Given the description of an element on the screen output the (x, y) to click on. 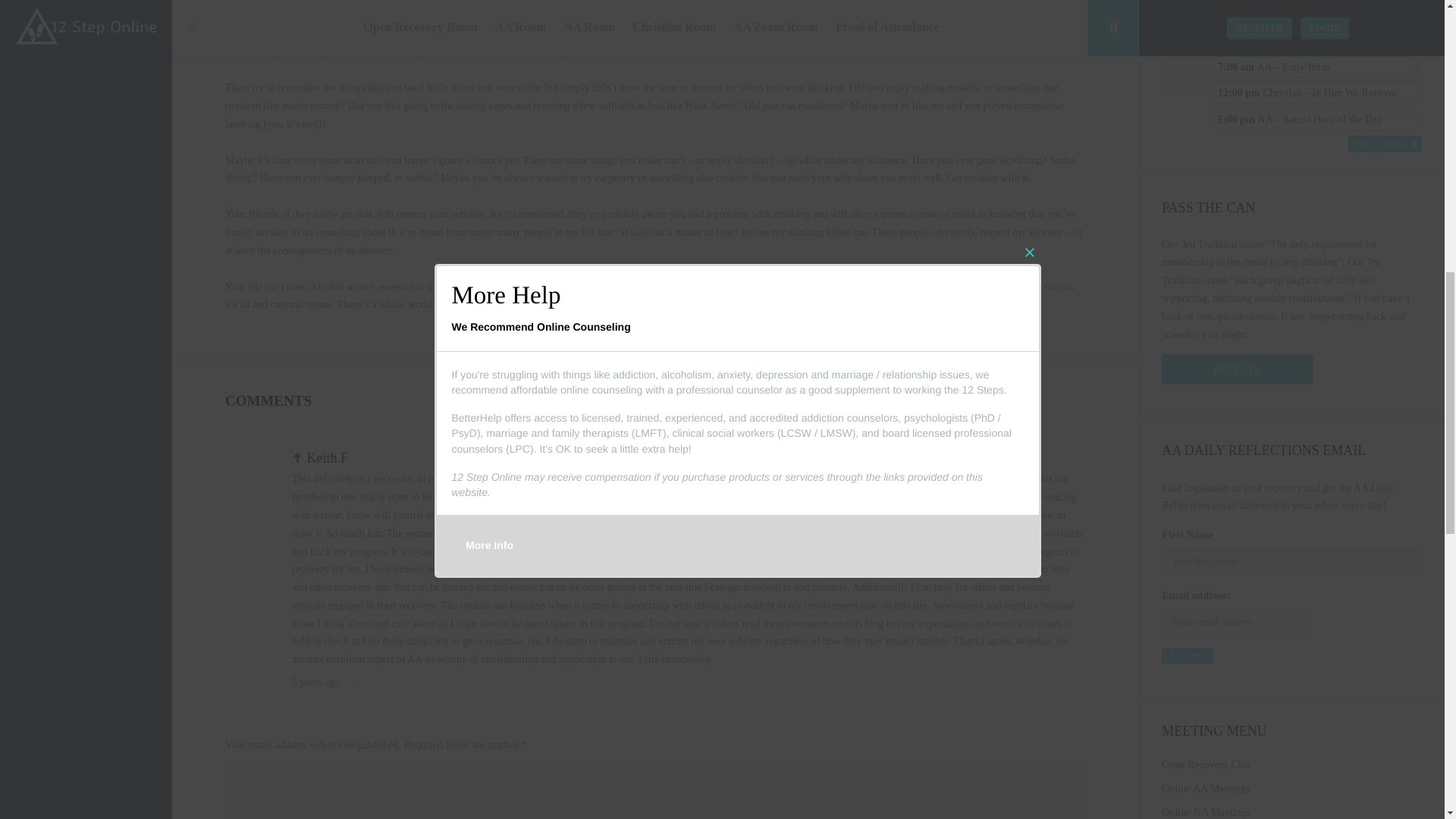
Submit (1186, 655)
